Given the description of an element on the screen output the (x, y) to click on. 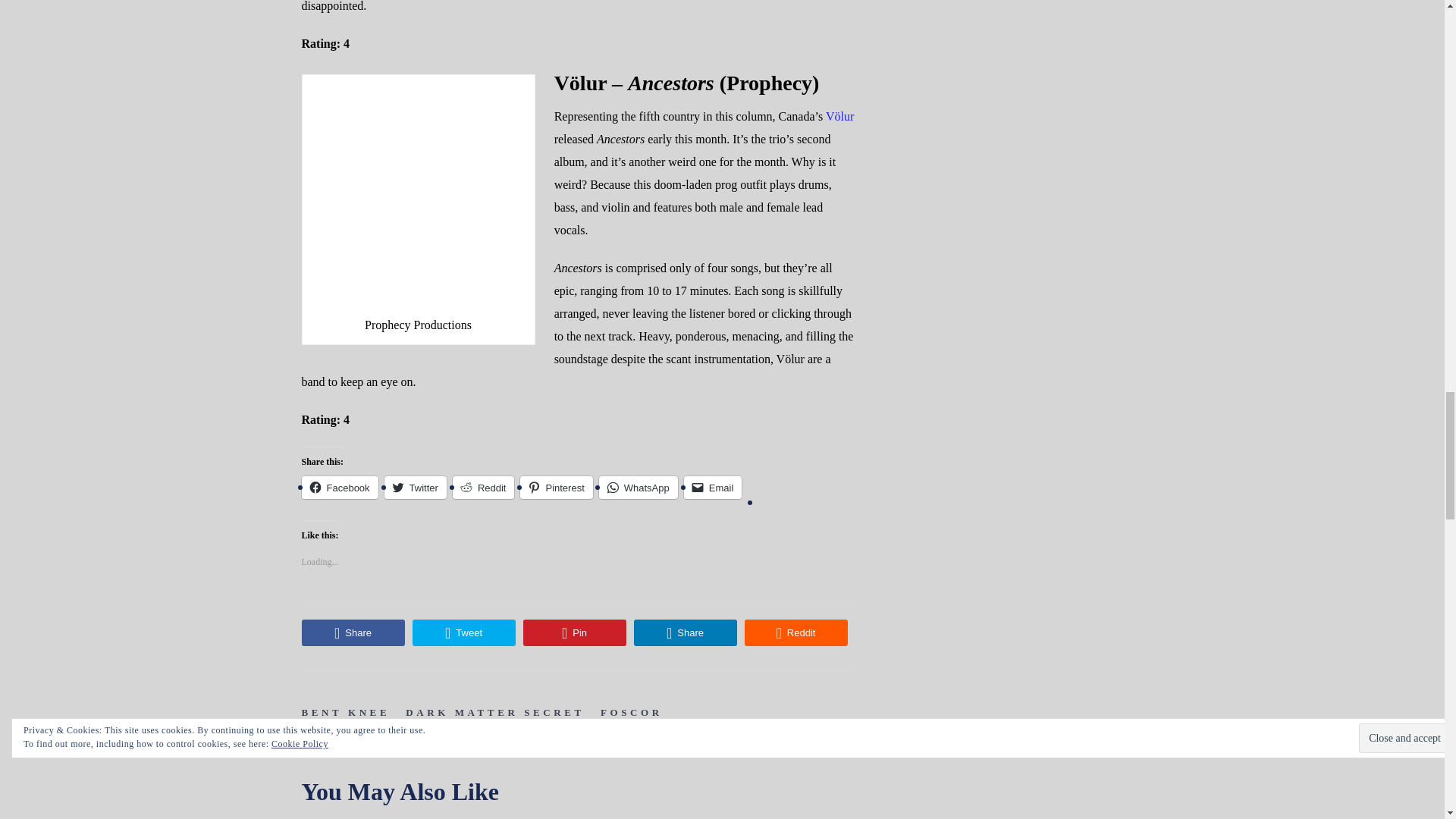
Tweet (463, 632)
Click to share on WhatsApp (638, 486)
WhatsApp (638, 486)
Share (684, 632)
DARK MATTER SECRET (495, 712)
Reddit (795, 632)
Twitter (415, 486)
Share (352, 632)
Email (713, 486)
Click to share on Reddit (483, 486)
